Given the description of an element on the screen output the (x, y) to click on. 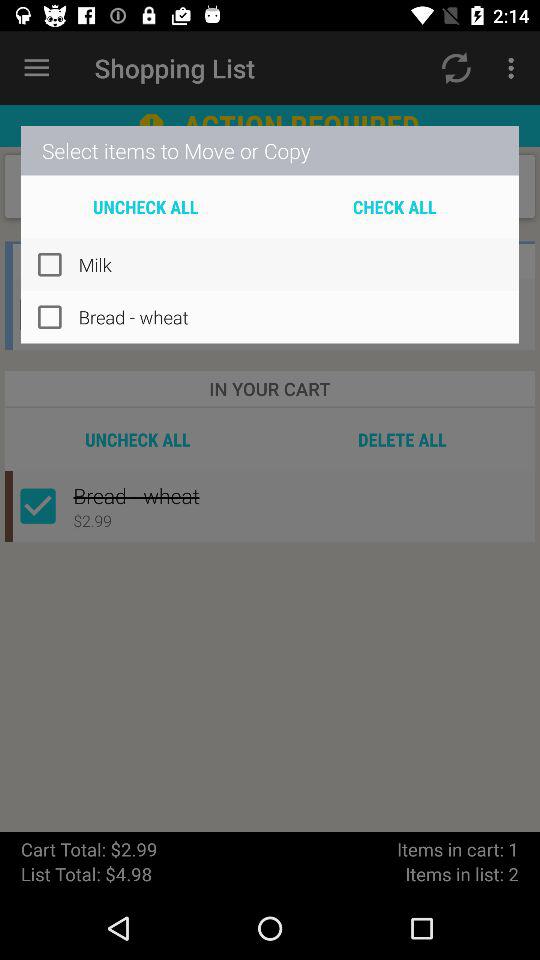
open the item next to check all icon (145, 206)
